Given the description of an element on the screen output the (x, y) to click on. 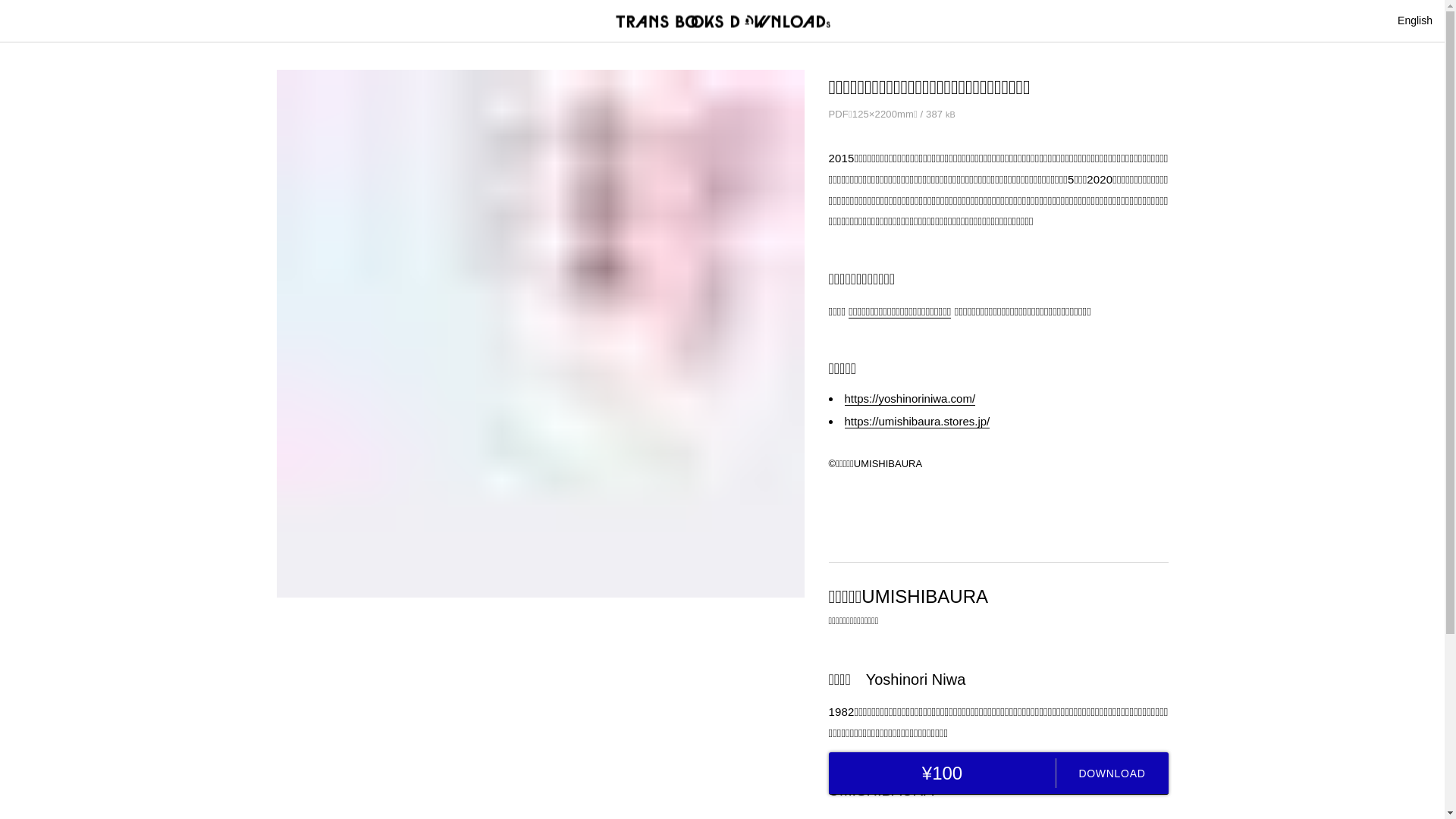
https://yoshinoriniwa.com/ Element type: text (909, 398)
https://umishibaura.stores.jp/ Element type: text (917, 421)
English Element type: text (1414, 20)
